Given the description of an element on the screen output the (x, y) to click on. 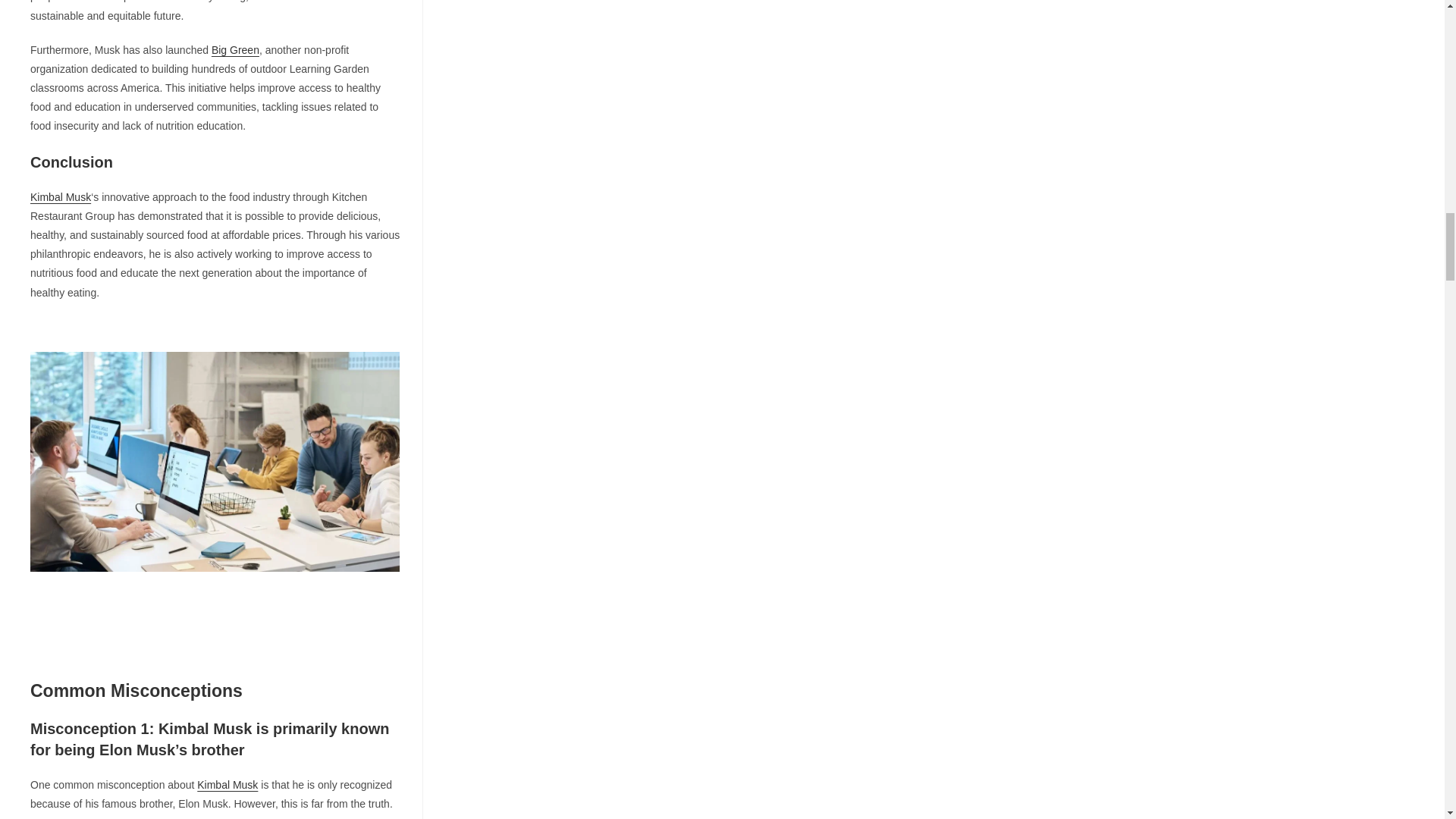
Kimbal Musk: Kitchen Restaurant Group (214, 461)
Kimbal Musk (60, 196)
Big Green (235, 50)
Kimbal Musk (226, 784)
